Given the description of an element on the screen output the (x, y) to click on. 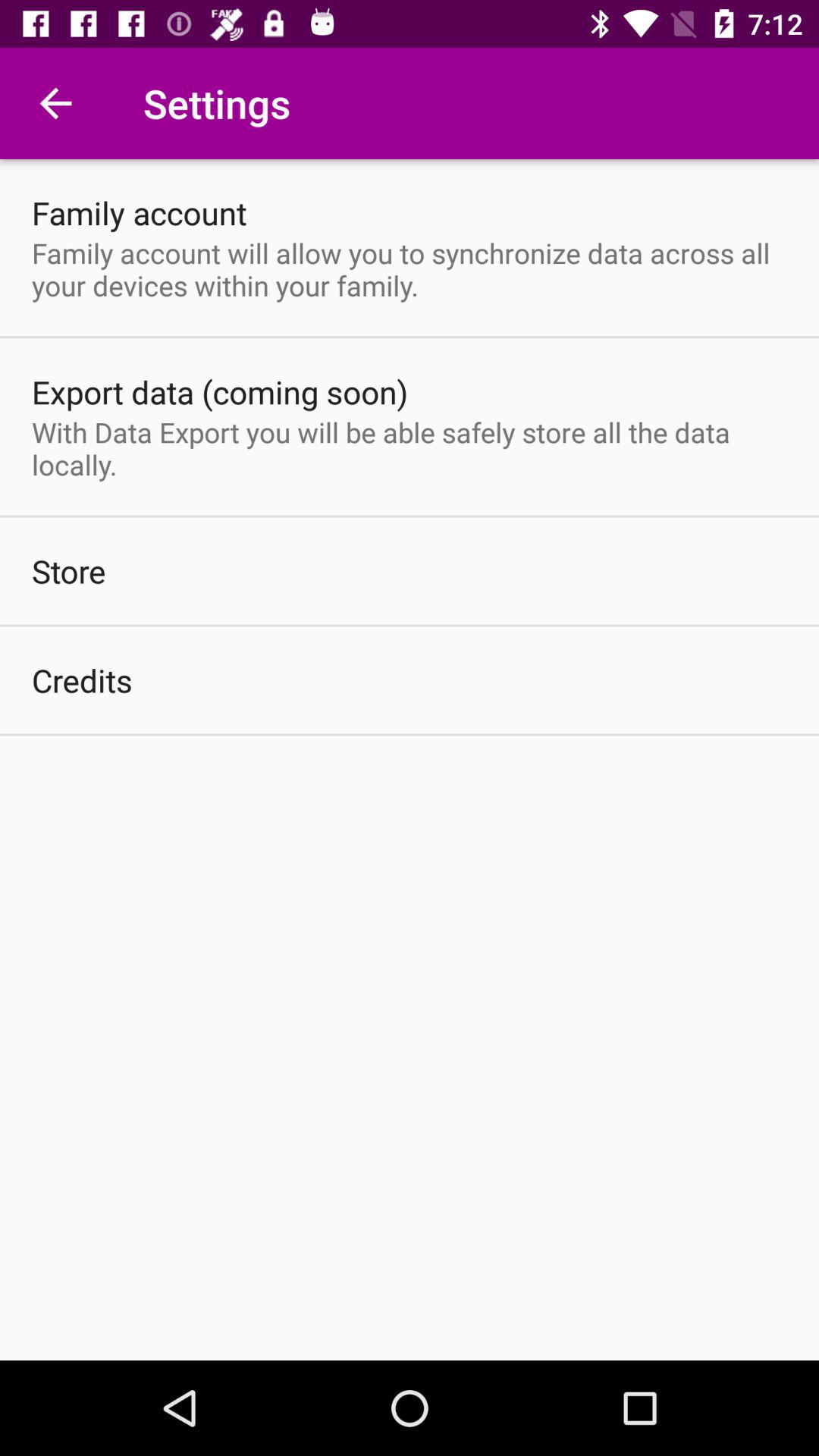
choose icon to the left of the settings item (55, 103)
